Given the description of an element on the screen output the (x, y) to click on. 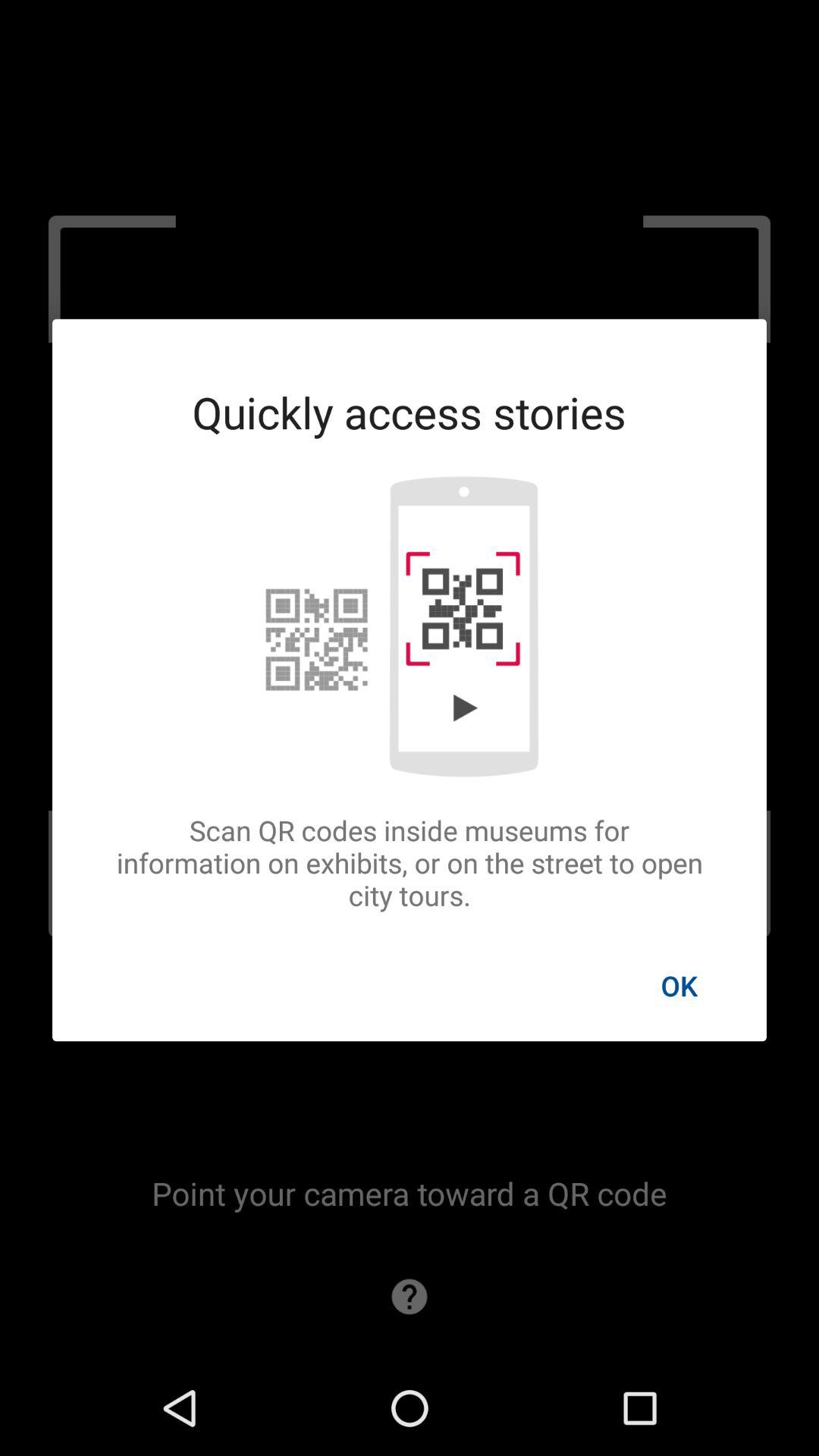
press button at the bottom right corner (678, 985)
